Given the description of an element on the screen output the (x, y) to click on. 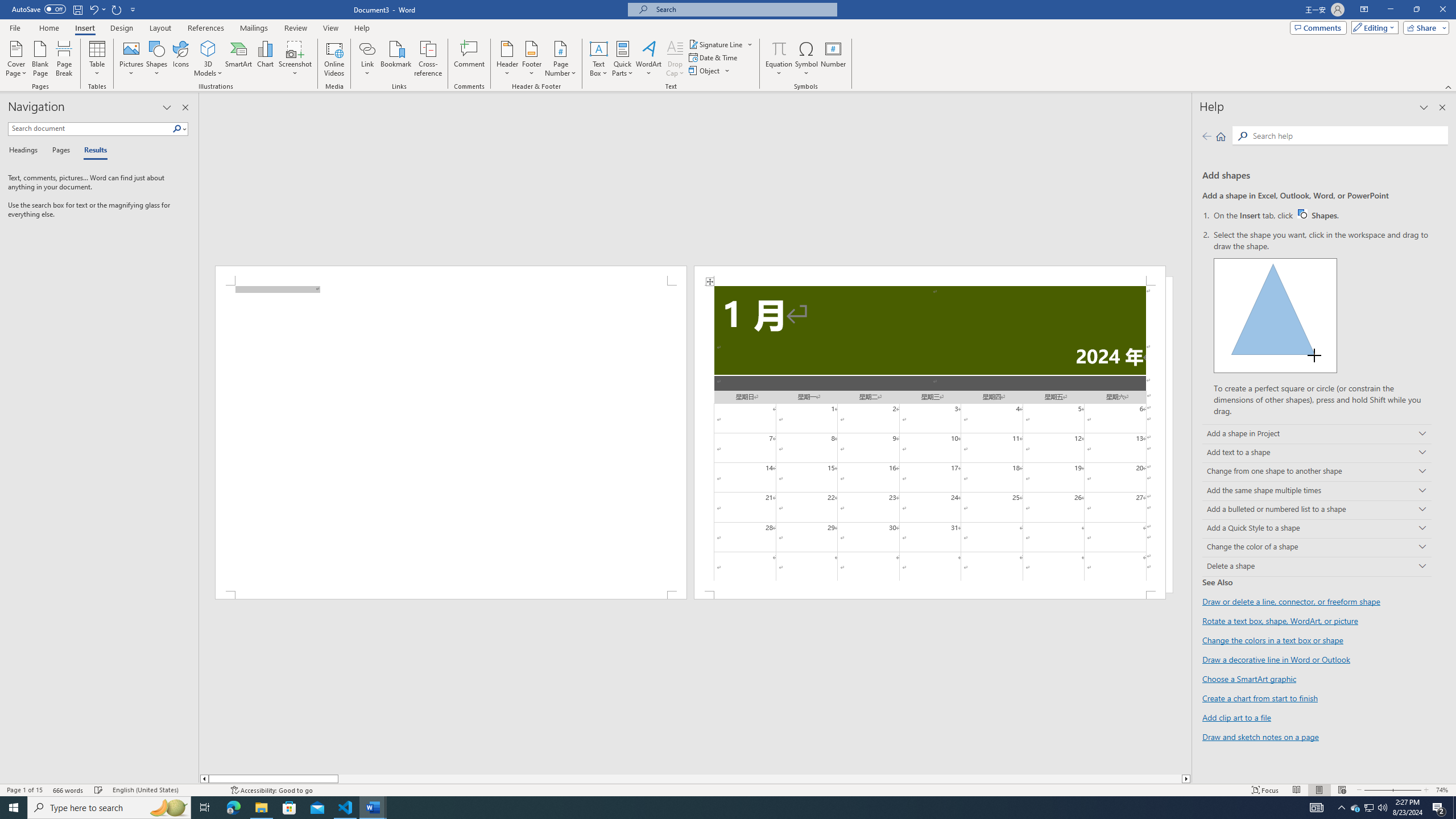
Page Break (63, 58)
Mailings (253, 28)
Previous page (1206, 136)
Layout (160, 28)
Results (91, 150)
Add text to a shape (1316, 452)
Restore Down (1416, 9)
File Tab (15, 27)
Accessibility Checker Accessibility: Good to go (271, 790)
Link (367, 48)
Ribbon Display Options (1364, 9)
Quick Access Toolbar (74, 9)
Search (1347, 135)
